Given the description of an element on the screen output the (x, y) to click on. 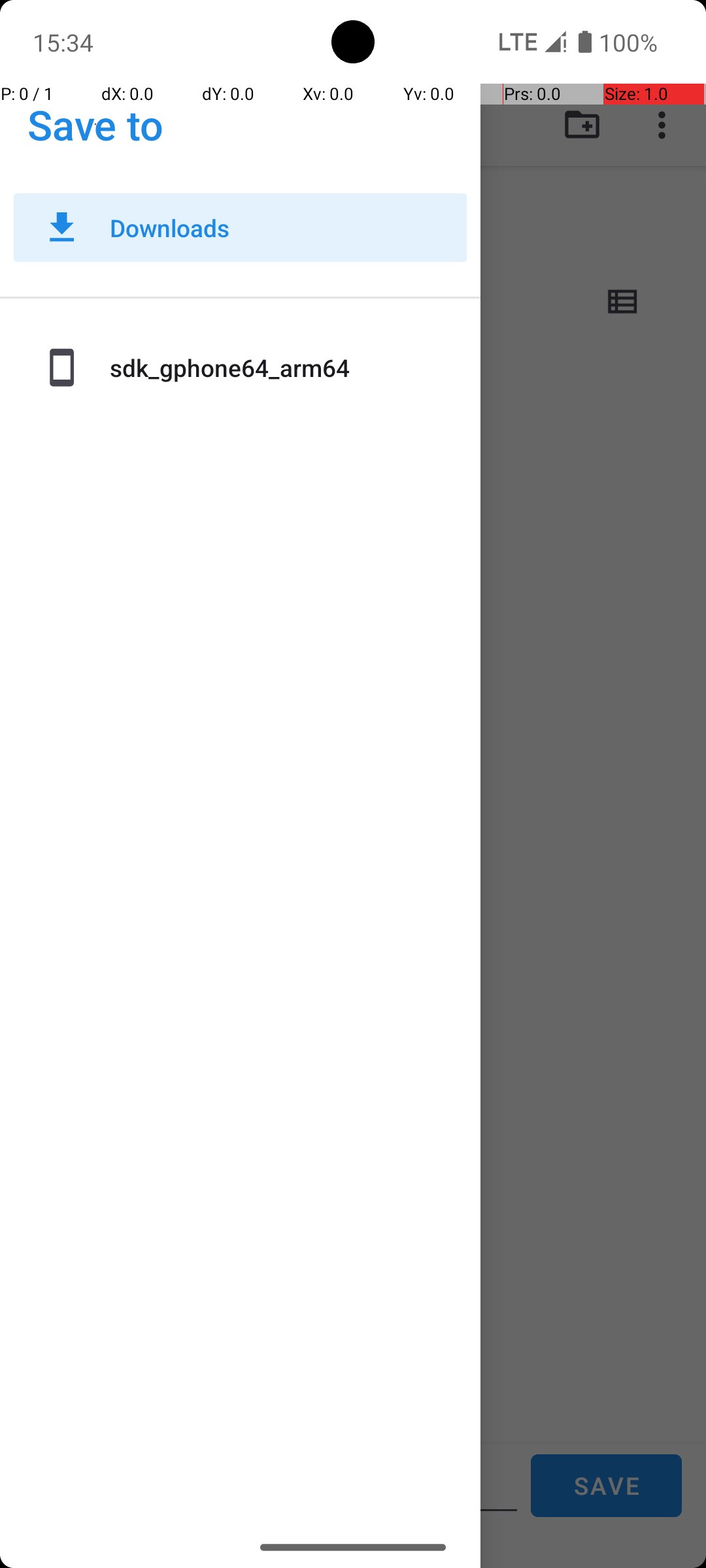
Save to Element type: android.widget.TextView (95, 124)
